Given the description of an element on the screen output the (x, y) to click on. 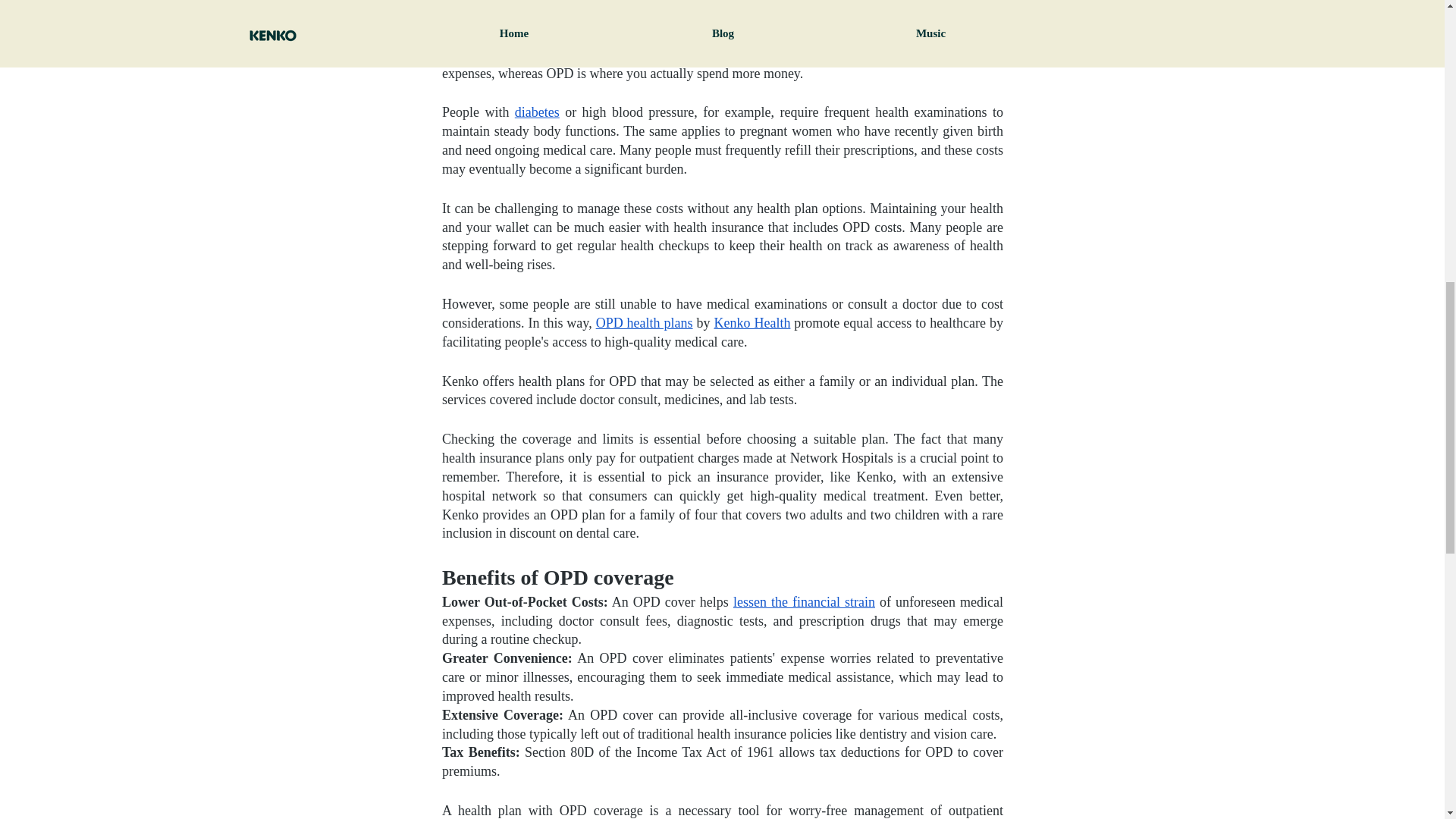
OPD health plans (644, 322)
lessen the financial strain (803, 601)
diabetes (536, 111)
Kenko Health (751, 322)
